Given the description of an element on the screen output the (x, y) to click on. 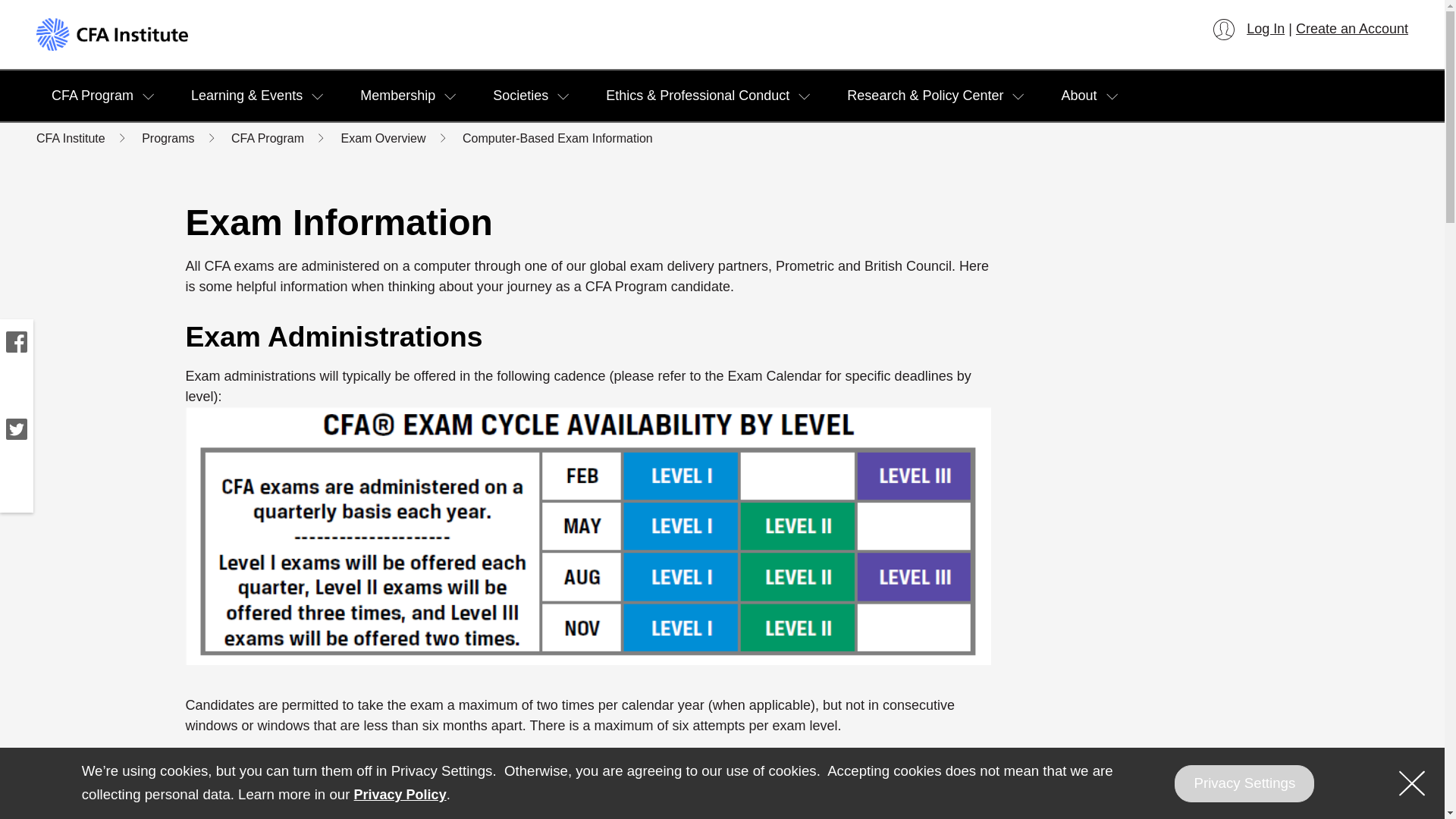
Privacy Settings (1244, 783)
Privacy Policy (399, 794)
Log In (1248, 29)
CFA Program (92, 95)
Create an Account (1351, 28)
